Given the description of an element on the screen output the (x, y) to click on. 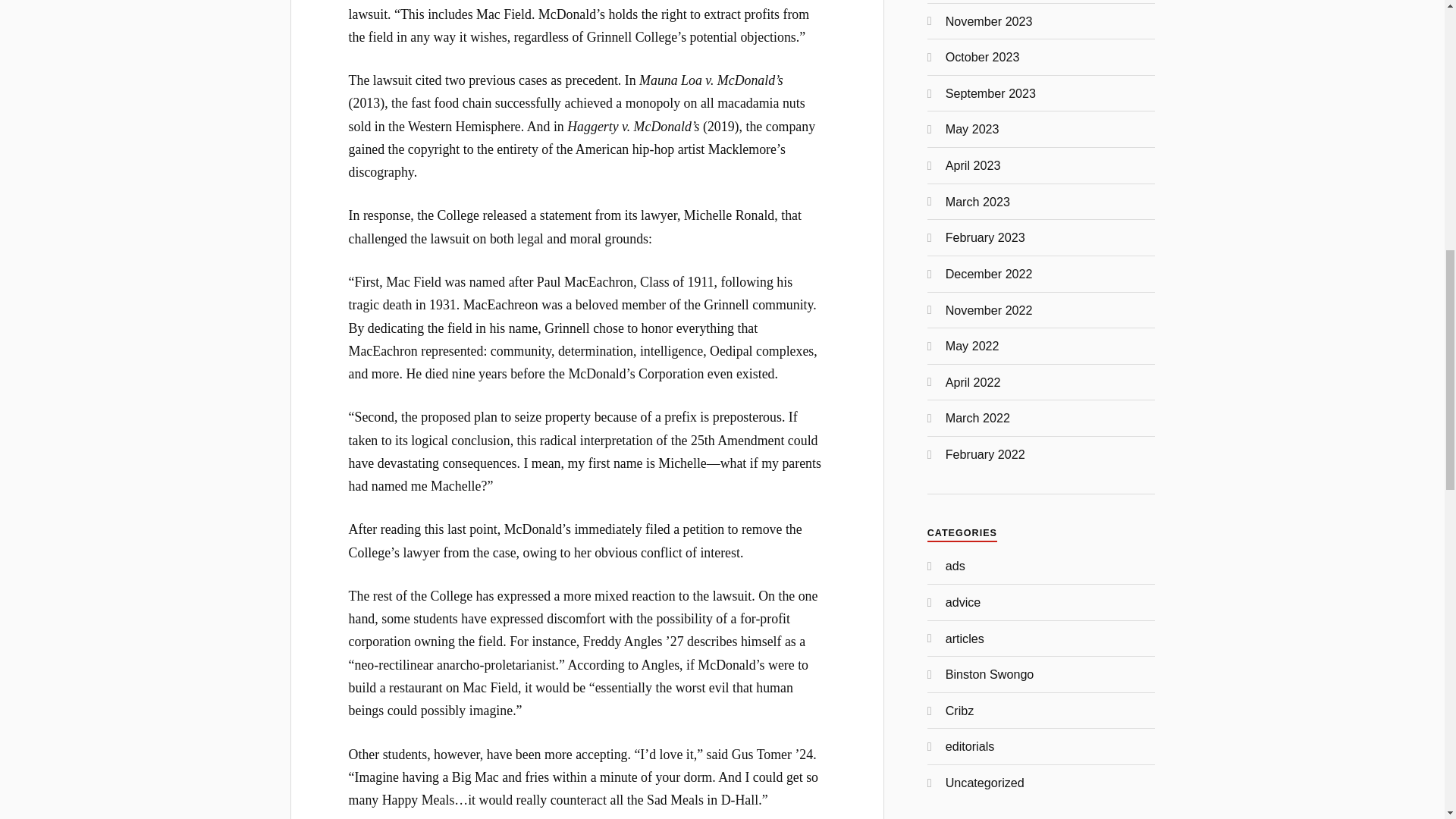
May 2022 (971, 345)
May 2023 (971, 128)
March 2023 (977, 201)
September 2023 (989, 92)
November 2022 (988, 309)
April 2023 (972, 164)
October 2023 (982, 56)
February 2023 (984, 237)
November 2023 (988, 20)
December 2022 (988, 273)
